Given the description of an element on the screen output the (x, y) to click on. 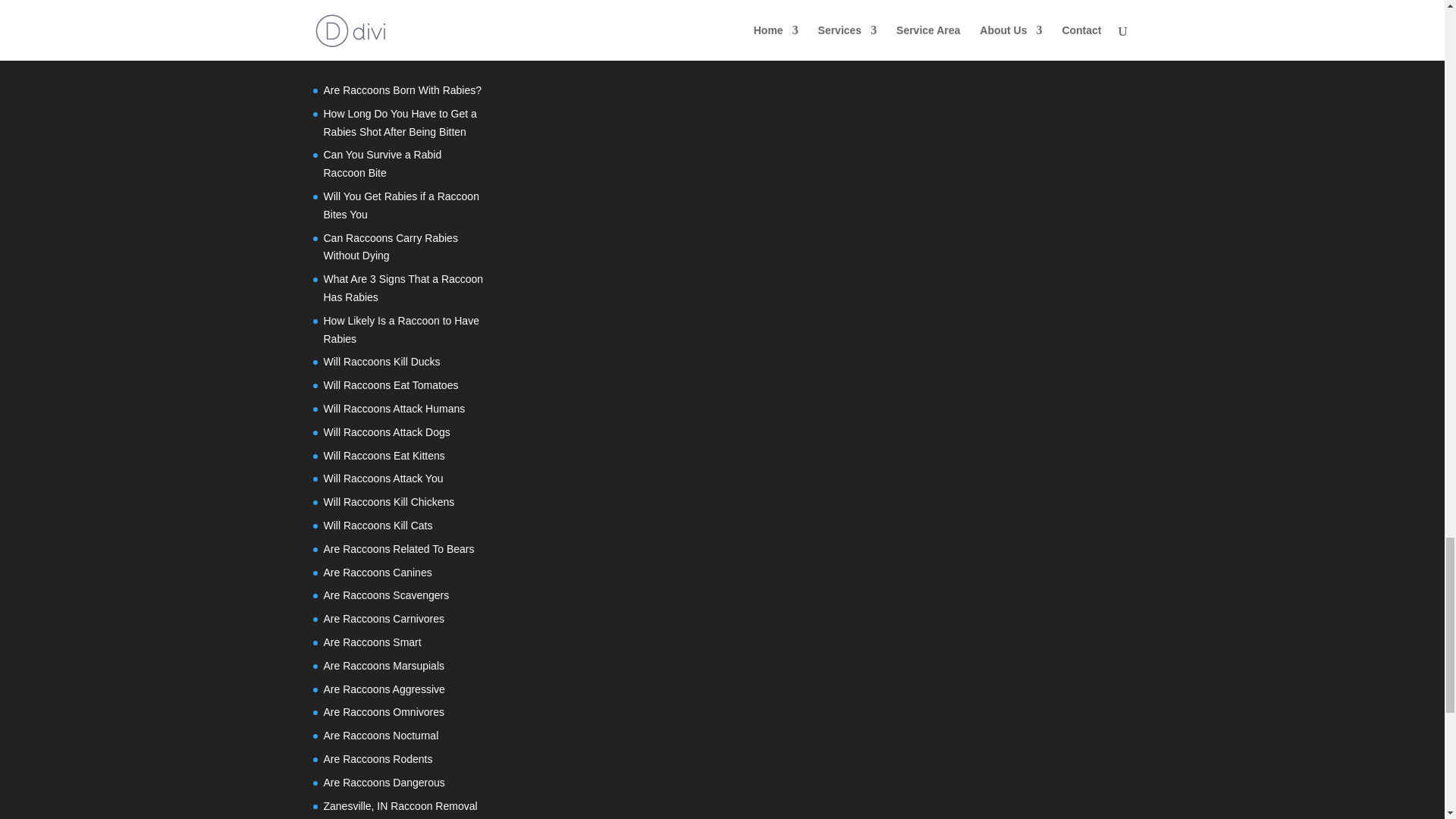
Can You Survive a Rabid Raccoon Bite (382, 163)
Can Raccoons Carry Rabies Without Dying (390, 246)
How Long Do You Have to Get a Rabies Shot After Being Bitten (399, 122)
Are Raccoons Born With Rabies? (402, 90)
Will You Get Rabies if a Raccoon Bites You (401, 205)
